Given the description of an element on the screen output the (x, y) to click on. 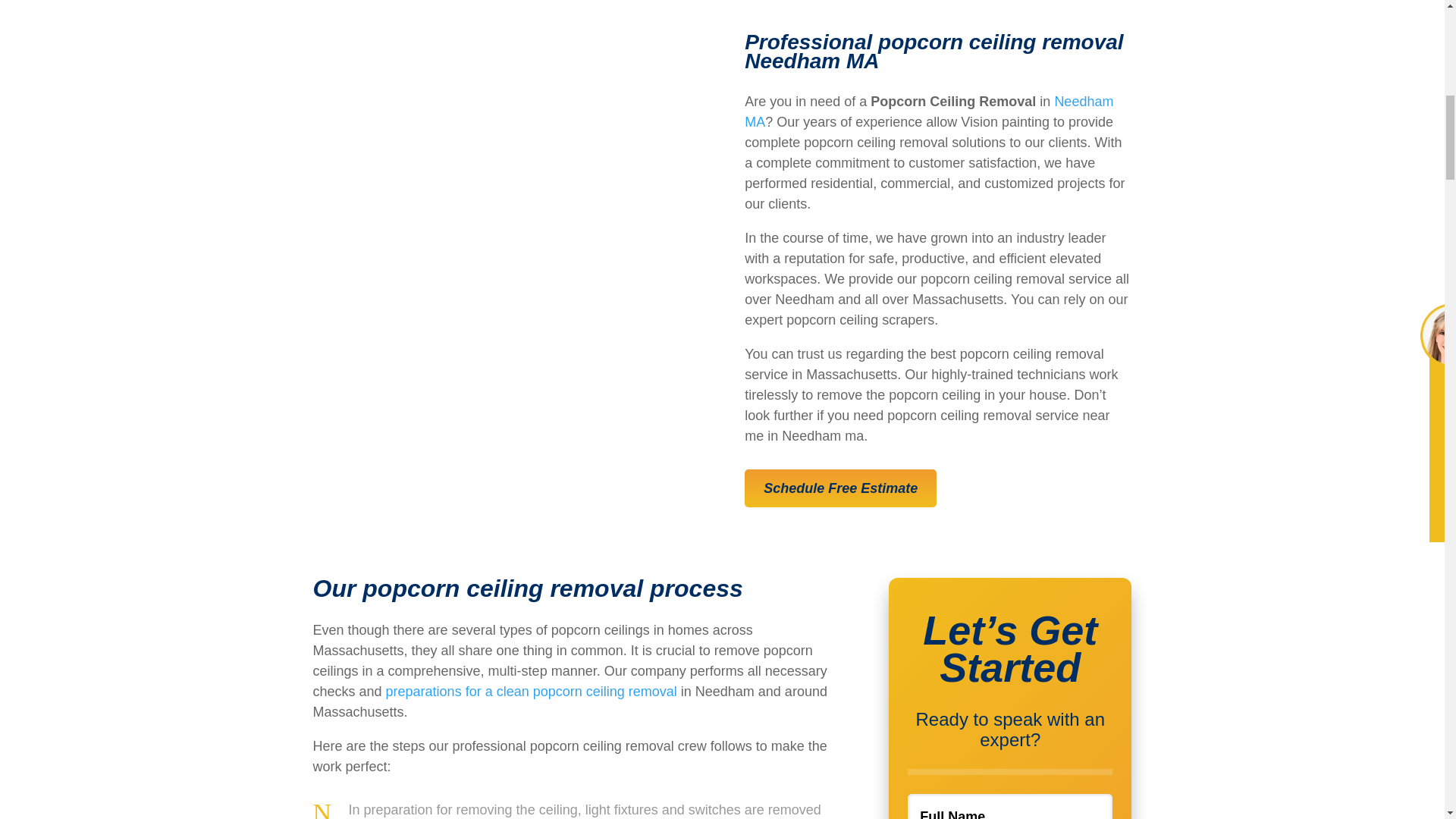
preparations for a clean popcorn ceiling removal (531, 691)
Schedule Free Estimate (840, 488)
Needham MA (928, 111)
